Given the description of an element on the screen output the (x, y) to click on. 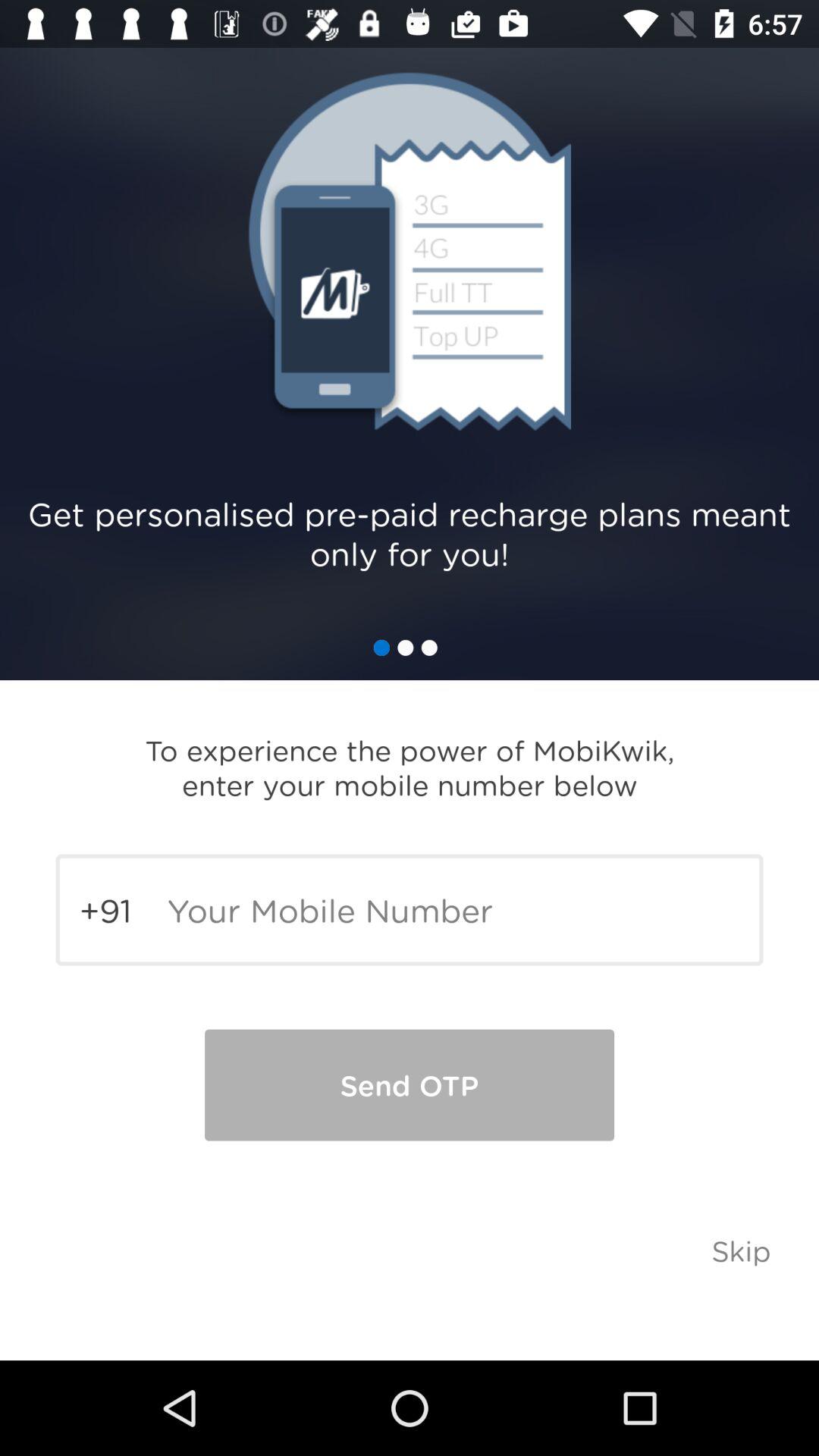
turn on the item above send otp item (409, 909)
